Given the description of an element on the screen output the (x, y) to click on. 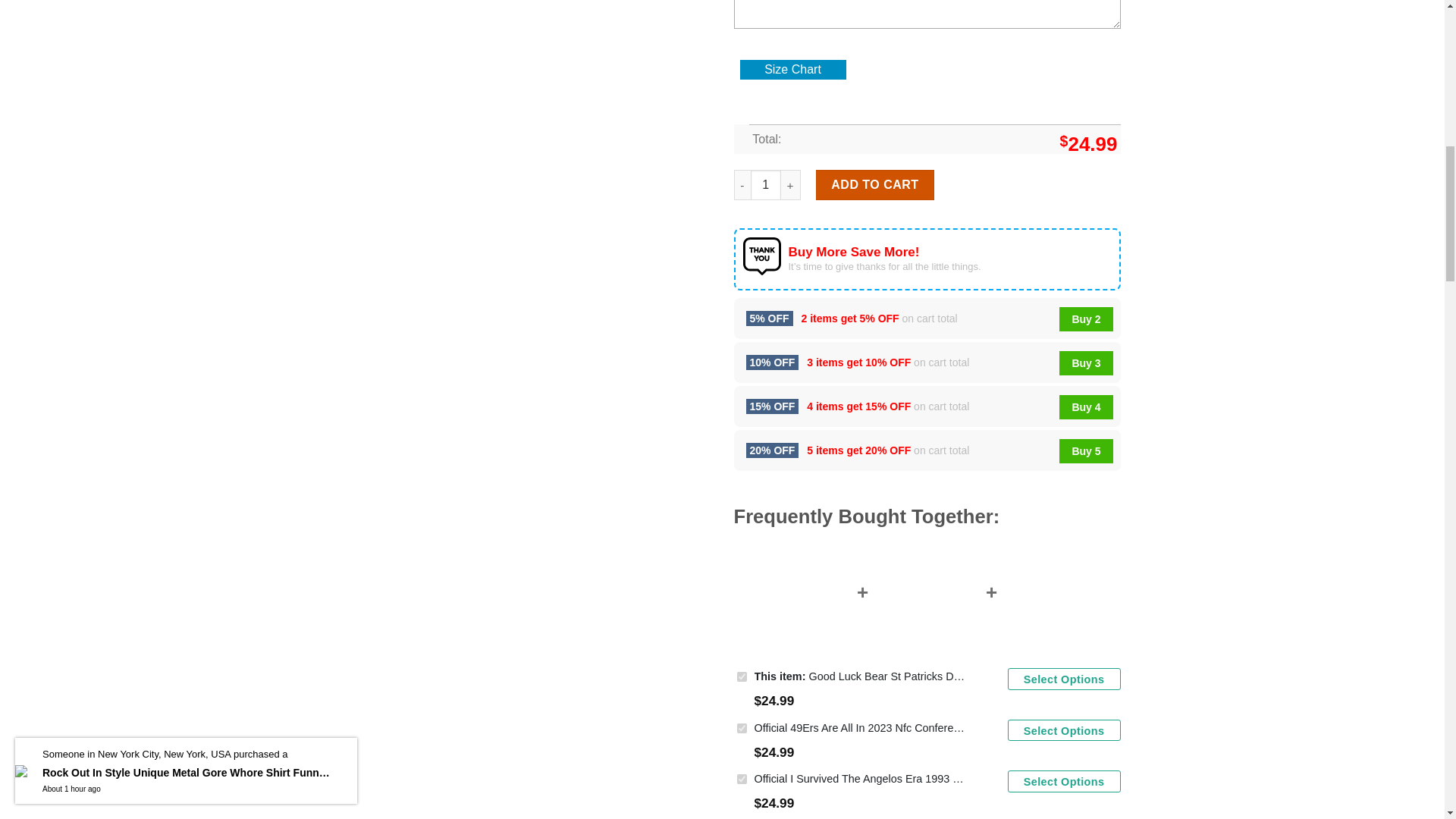
9410 (741, 728)
1 (765, 184)
26257 (741, 676)
9390 (741, 778)
